Given the description of an element on the screen output the (x, y) to click on. 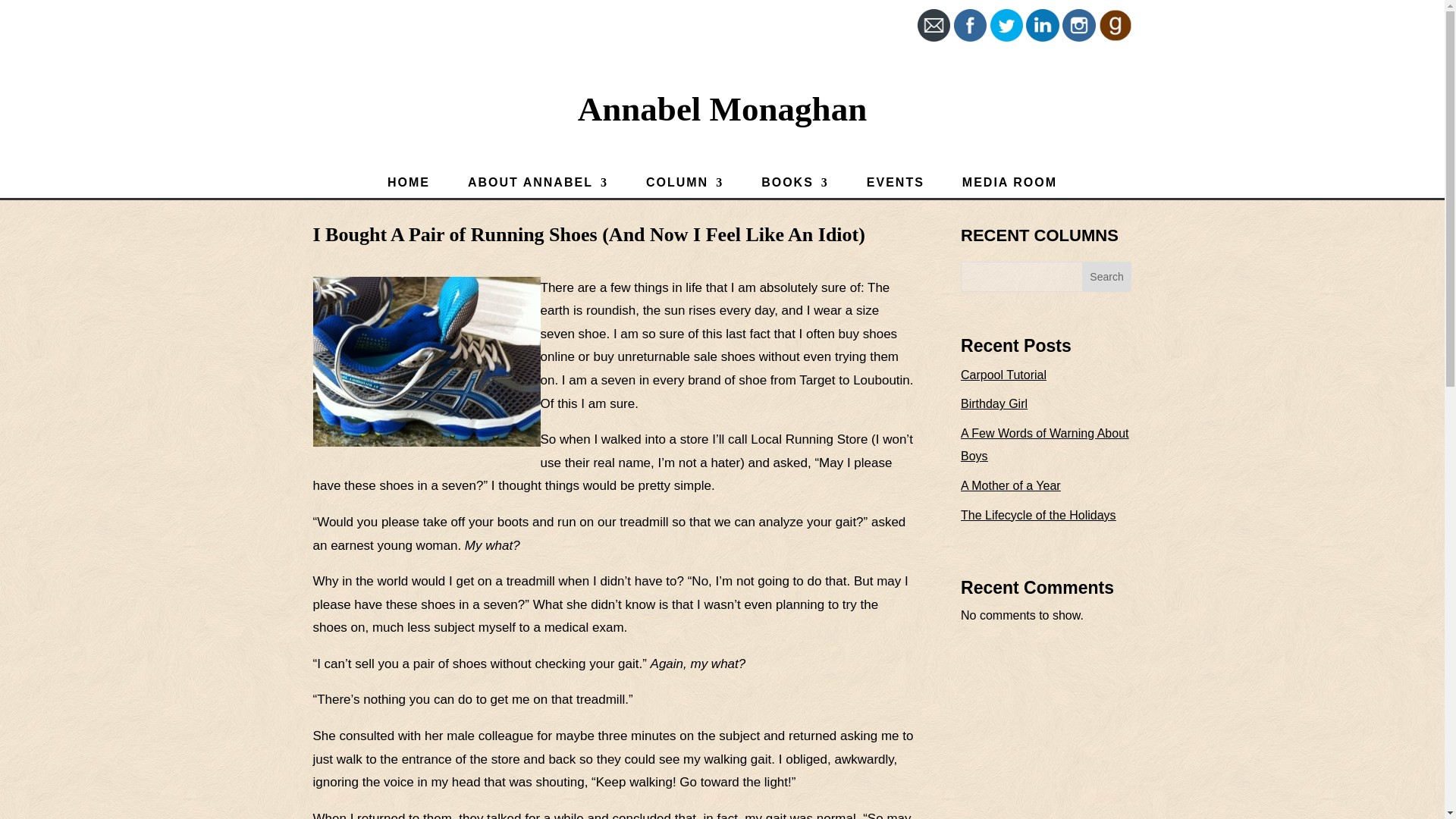
BOOKS (794, 185)
HOME (408, 185)
MEDIA ROOM (1009, 185)
EVENTS (895, 185)
ABOUT ANNABEL (537, 185)
COLUMN (684, 185)
